Given the description of an element on the screen output the (x, y) to click on. 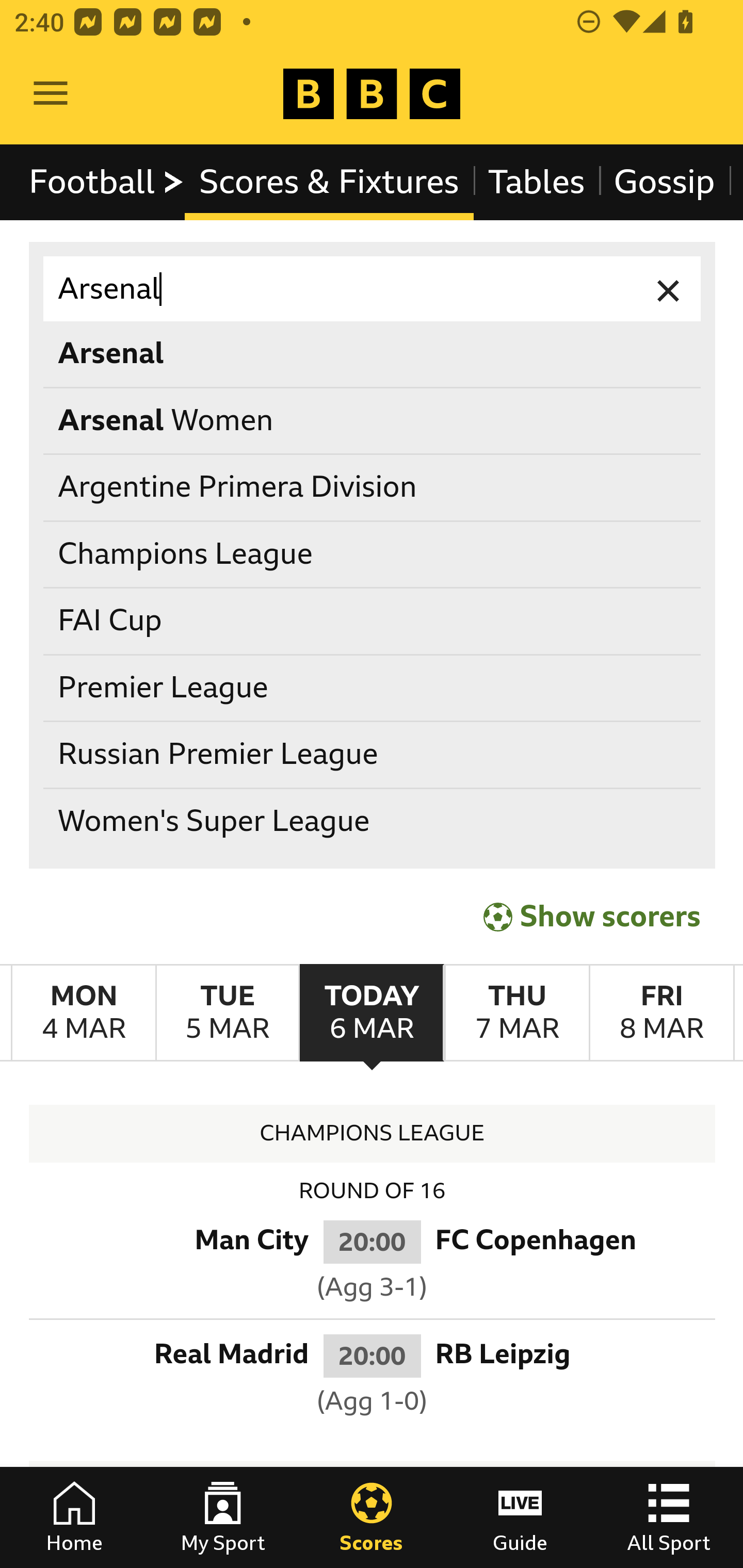
Open Menu (50, 93)
Football  (106, 181)
Scores & Fixtures (329, 181)
Tables (536, 181)
Gossip (664, 181)
Arsenal (372, 289)
Clear input (669, 289)
Arsenal Women Arsenal  Women (372, 419)
Argentine Primera Division (372, 488)
Champions League (372, 554)
FAI Cup (372, 620)
Premier League (372, 687)
Russian Premier League (372, 755)
Women's Super League (372, 821)
Show scorers (591, 916)
MondayMarch 4th Monday March 4th (83, 1012)
TuesdayMarch 5th Tuesday March 5th (227, 1012)
ThursdayMarch 7th Thursday March 7th (516, 1012)
FridayMarch 8th Friday March 8th (661, 1012)
Home (74, 1517)
My Sport (222, 1517)
Guide (519, 1517)
All Sport (668, 1517)
